Given the description of an element on the screen output the (x, y) to click on. 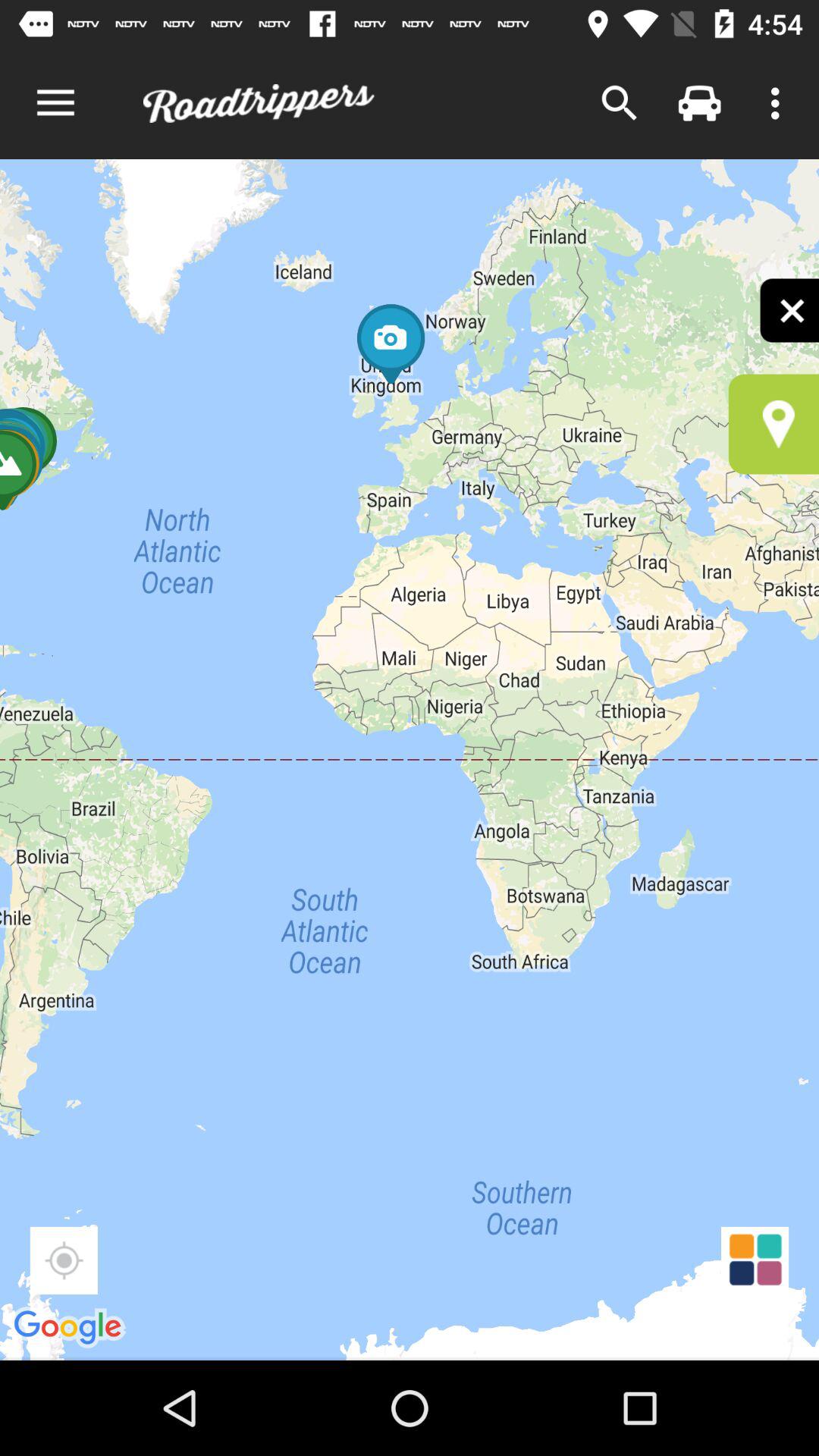
place a map pin (773, 424)
